Given the description of an element on the screen output the (x, y) to click on. 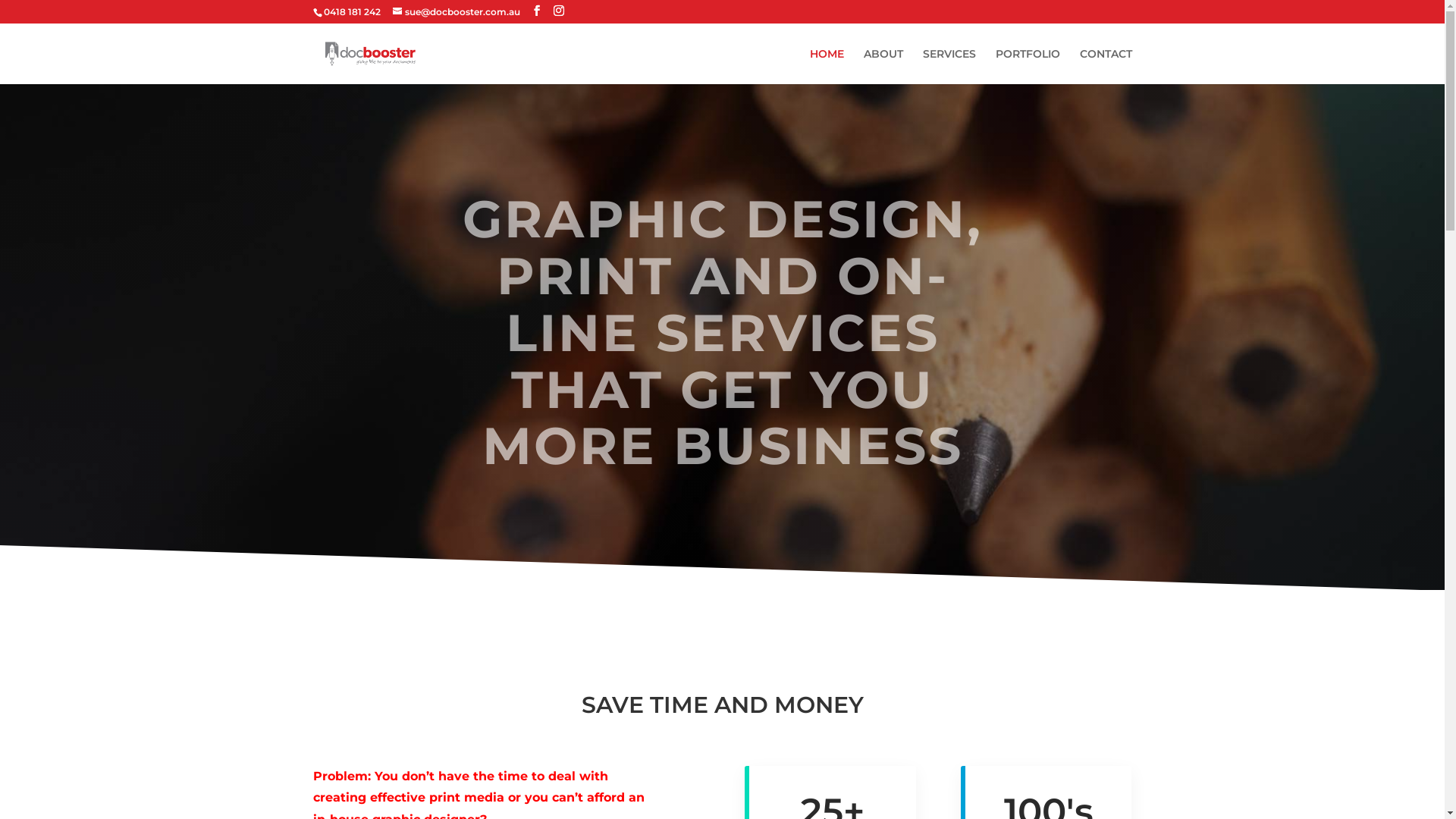
PORTFOLIO Element type: text (1026, 66)
SERVICES Element type: text (948, 66)
ABOUT Element type: text (882, 66)
sue@docbooster.com.au Element type: text (456, 11)
CONTACT Element type: text (1105, 66)
HOME Element type: text (826, 66)
